Given the description of an element on the screen output the (x, y) to click on. 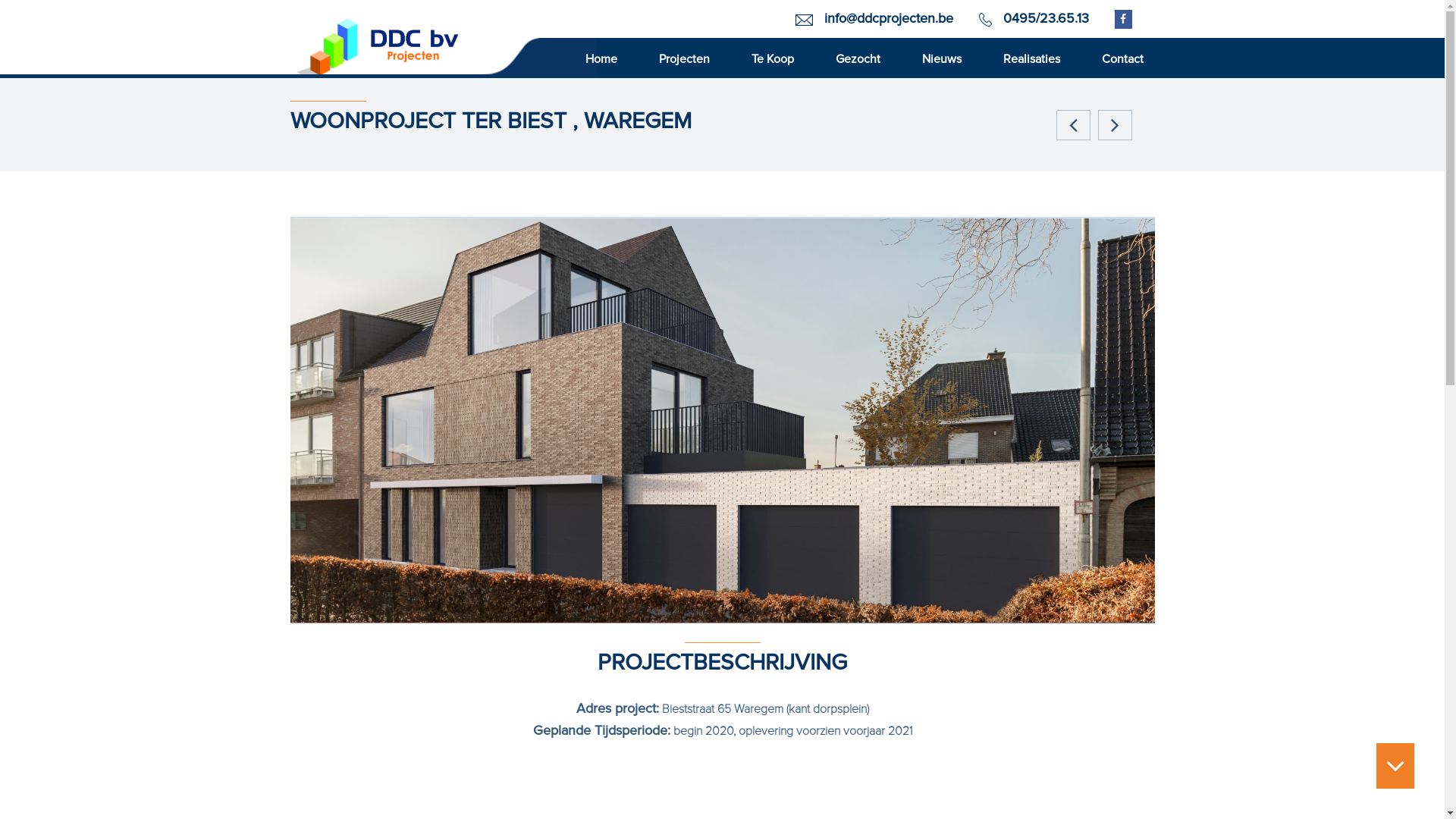
Gezocht Element type: text (857, 57)
Te Koop Element type: text (772, 57)
0495/23.65.13 Element type: text (1045, 17)
Contact Element type: text (1122, 57)
Projecten Element type: text (684, 57)
info@ddcprojecten.be Element type: text (887, 17)
Nieuws Element type: text (941, 57)
Realisaties Element type: text (1031, 57)
Home Element type: text (600, 57)
